Given the description of an element on the screen output the (x, y) to click on. 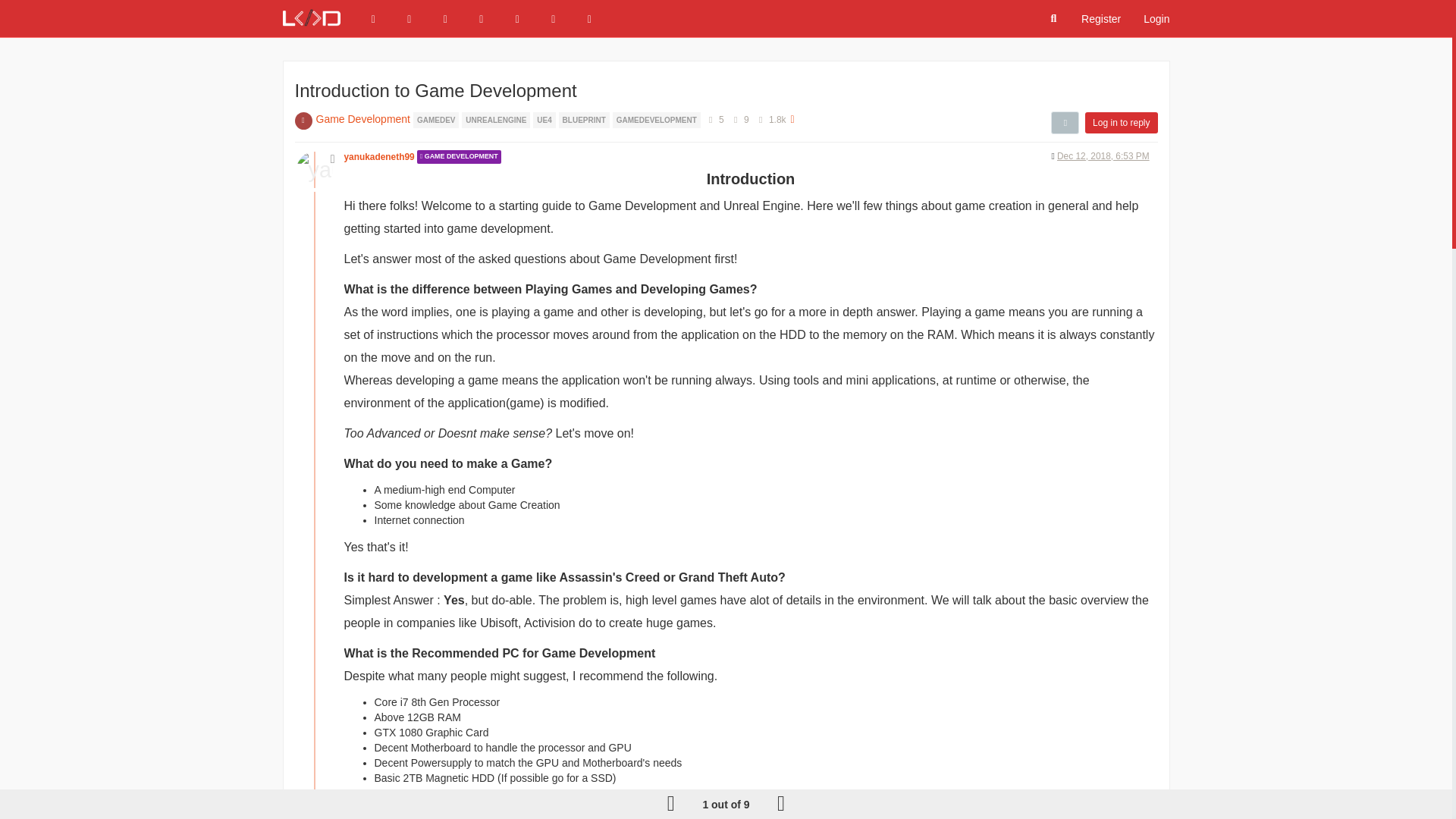
Game Development (362, 119)
Login (1156, 18)
GAMEDEV (437, 119)
UNREALENGINE (496, 119)
BLUEPRINT (585, 119)
GAMEDEVELOPMENT (656, 119)
Search (1053, 18)
UE4 (544, 119)
Register (1101, 18)
